Given the description of an element on the screen output the (x, y) to click on. 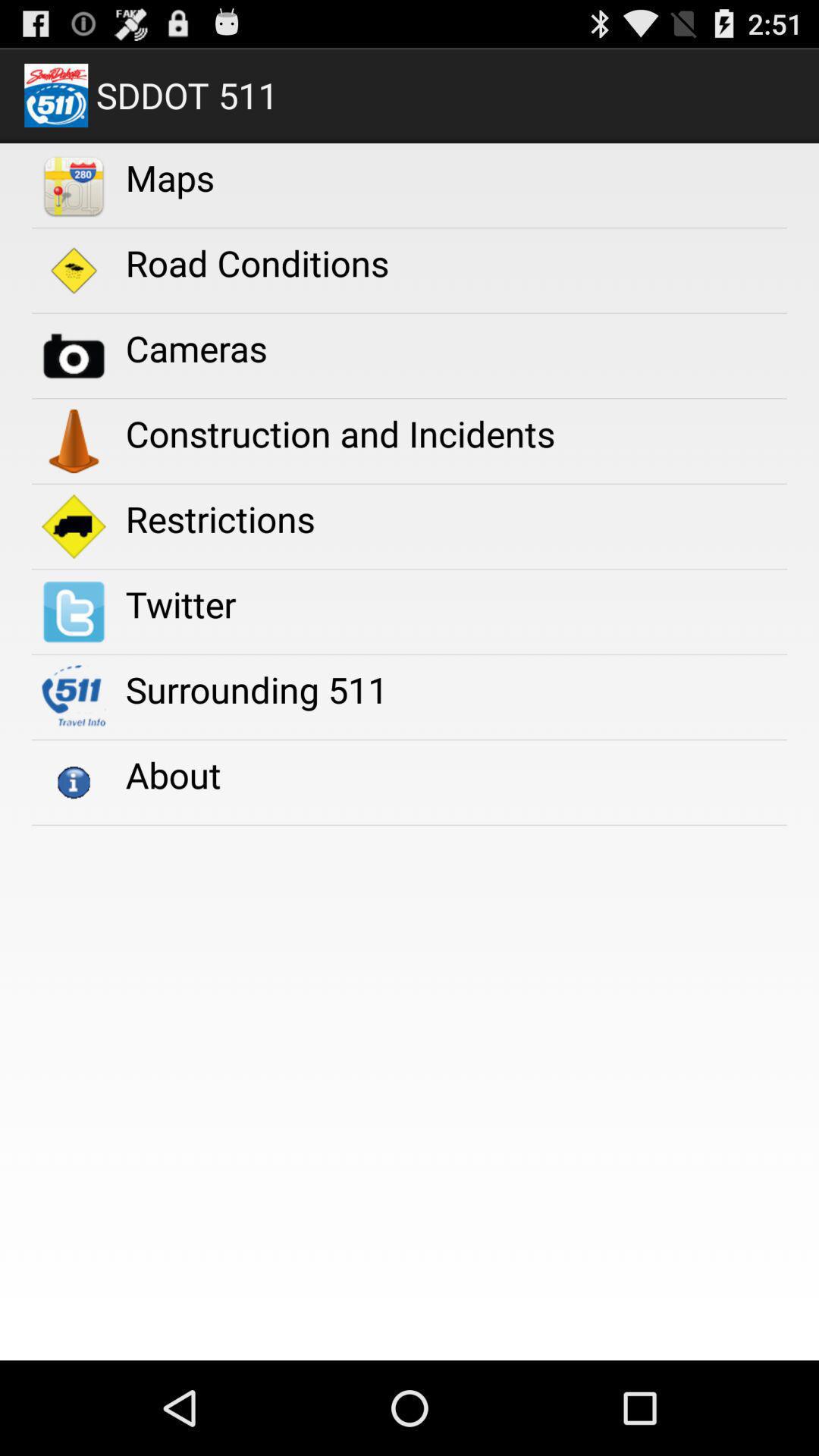
jump to the road conditions item (257, 262)
